Given the description of an element on the screen output the (x, y) to click on. 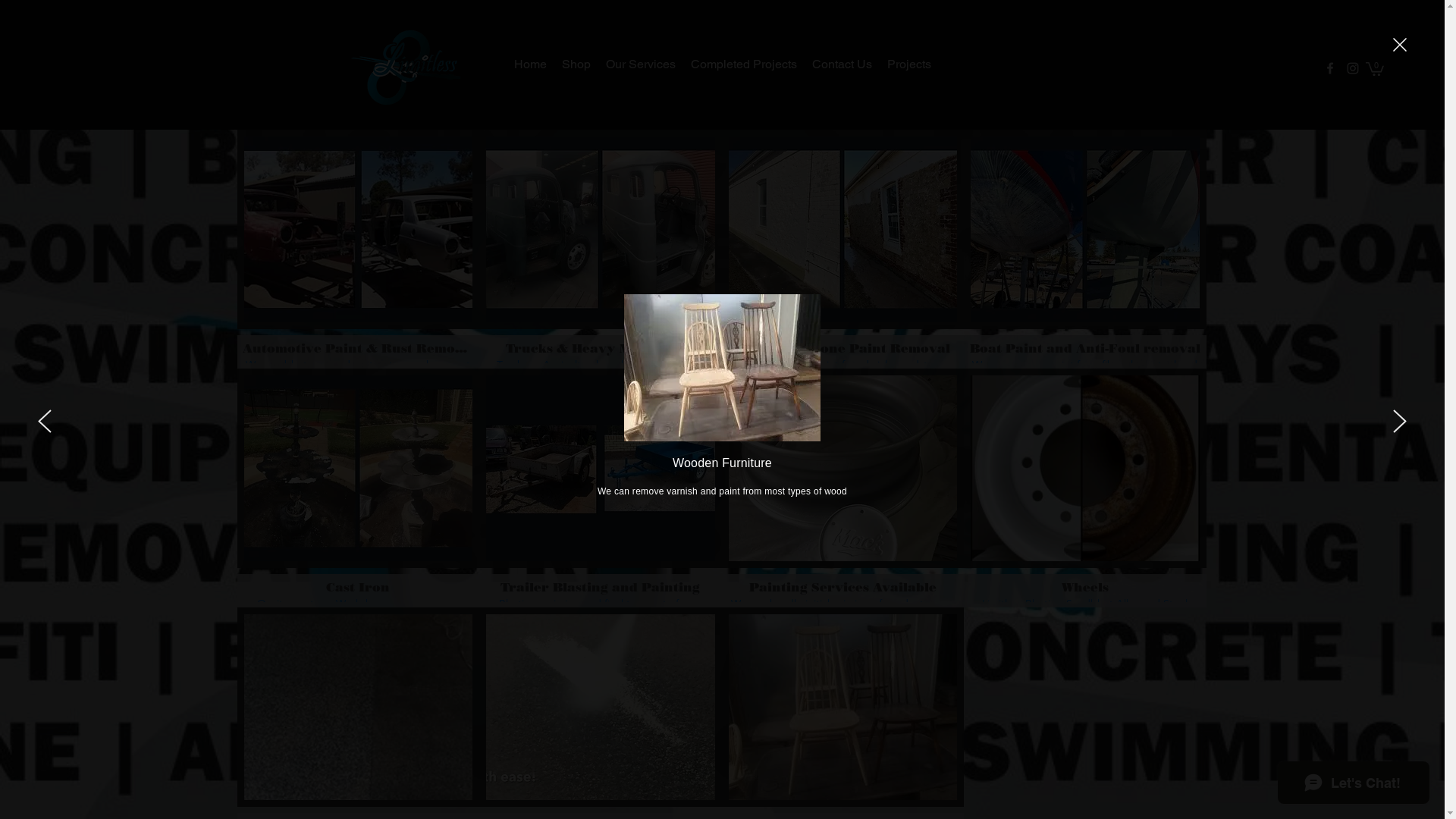
Completed Projects Element type: text (742, 64)
Our Services Element type: text (639, 64)
Projects Element type: text (908, 64)
Home Element type: text (530, 64)
Shop Element type: text (575, 64)
0 Element type: text (1374, 67)
Contact Us Element type: text (840, 64)
